Given the description of an element on the screen output the (x, y) to click on. 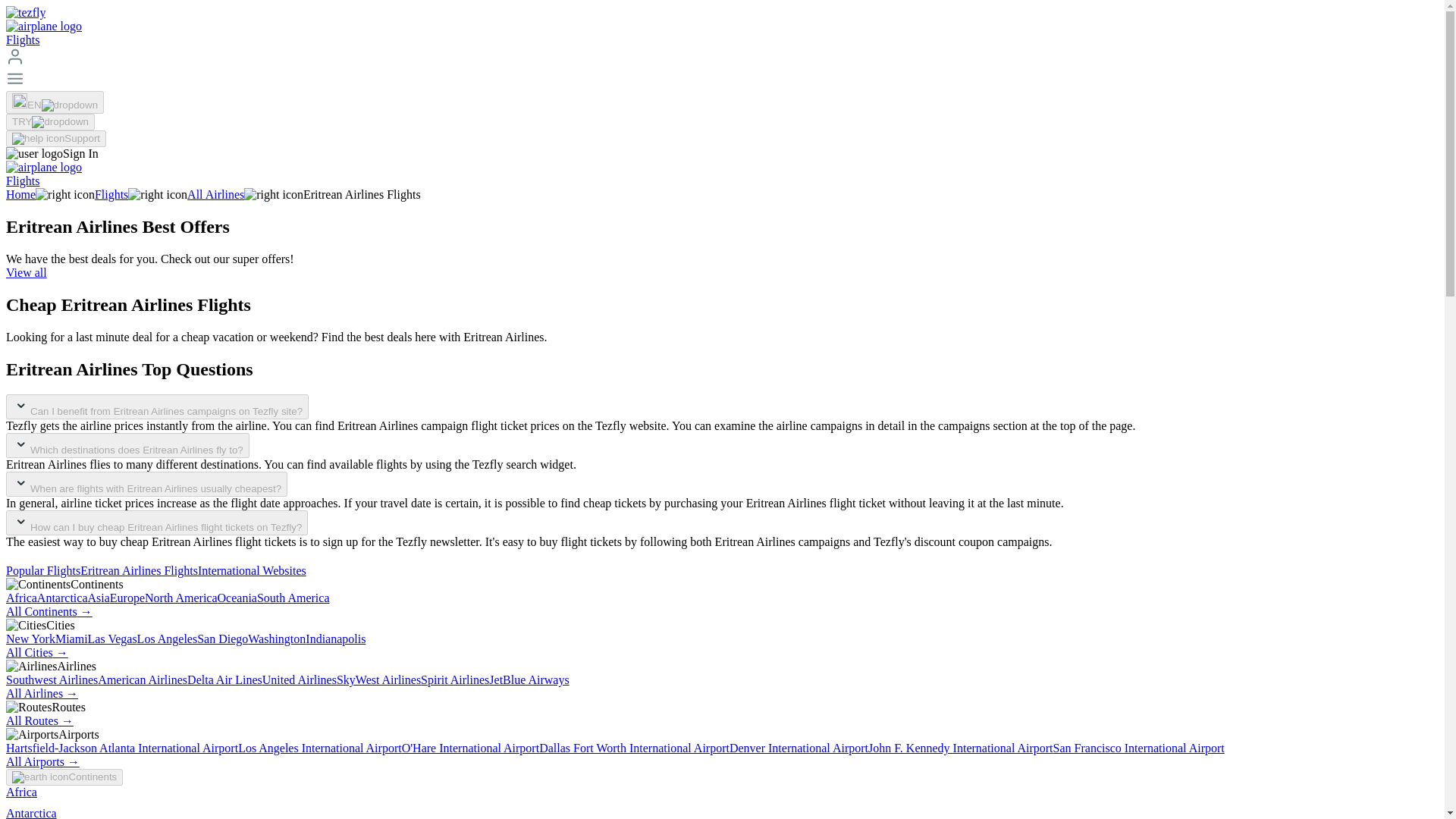
United Airlines (299, 679)
International Websites (251, 570)
When are flights with Eritrean Airlines usually cheapest? (145, 483)
Miami (71, 638)
Asia (98, 597)
Southwest Airlines (51, 679)
Antarctica (62, 597)
EN (54, 101)
SkyWest Airlines (378, 679)
American Airlines (142, 679)
TRY (49, 121)
All Airlines (215, 194)
Which destinations does Eritrean Airlines fly to? (126, 445)
Africa (21, 597)
New York (30, 638)
